Given the description of an element on the screen output the (x, y) to click on. 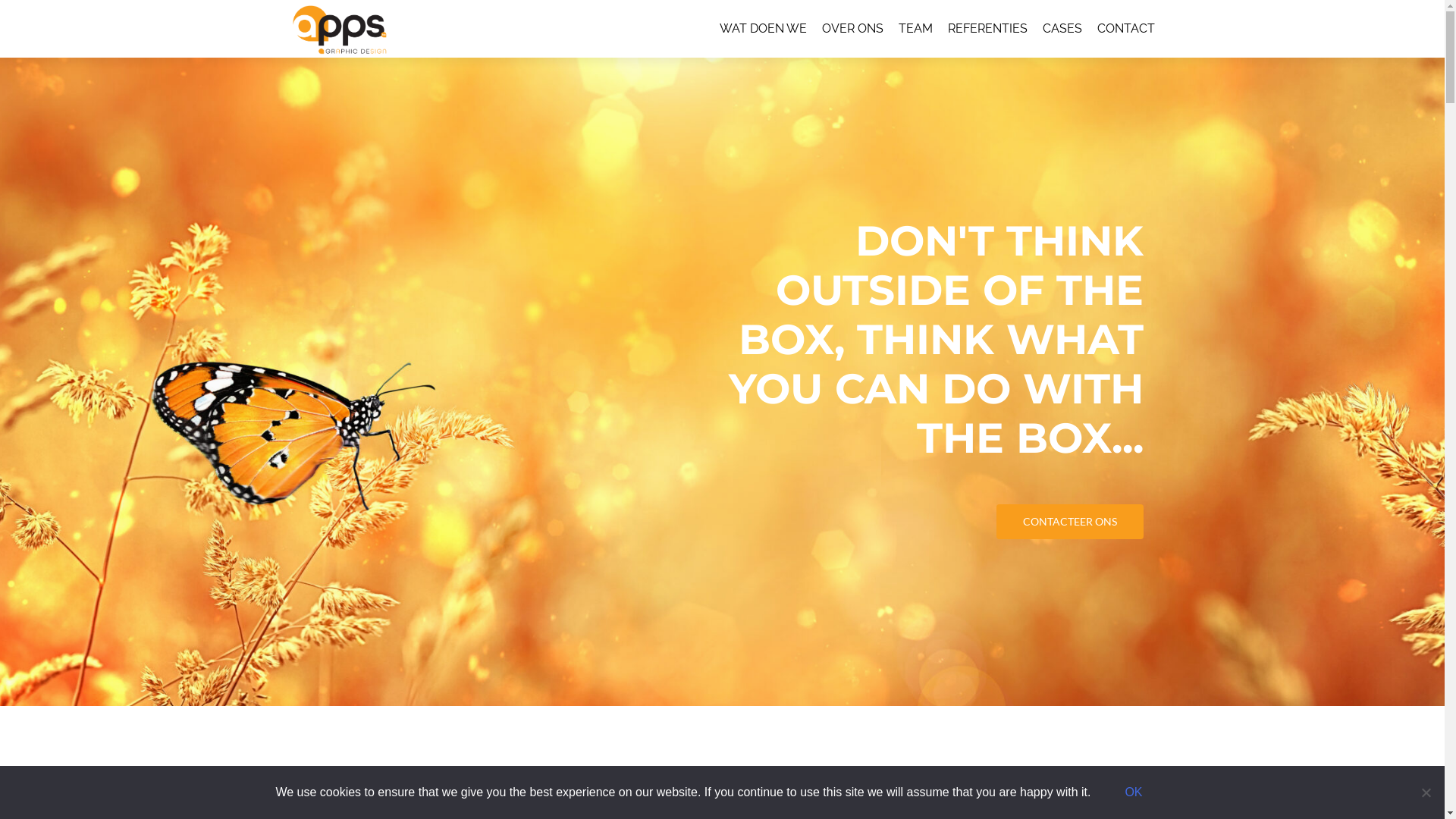
TEAM Element type: text (914, 28)
CONTACTEER ONS Element type: text (1069, 521)
CASES Element type: text (1061, 28)
CONTACT Element type: text (1125, 28)
OK Element type: text (1133, 792)
WAT DOEN WE Element type: text (762, 28)
No Element type: hover (1425, 792)
OVER ONS Element type: text (852, 28)
REFERENTIES Element type: text (987, 28)
